Given the description of an element on the screen output the (x, y) to click on. 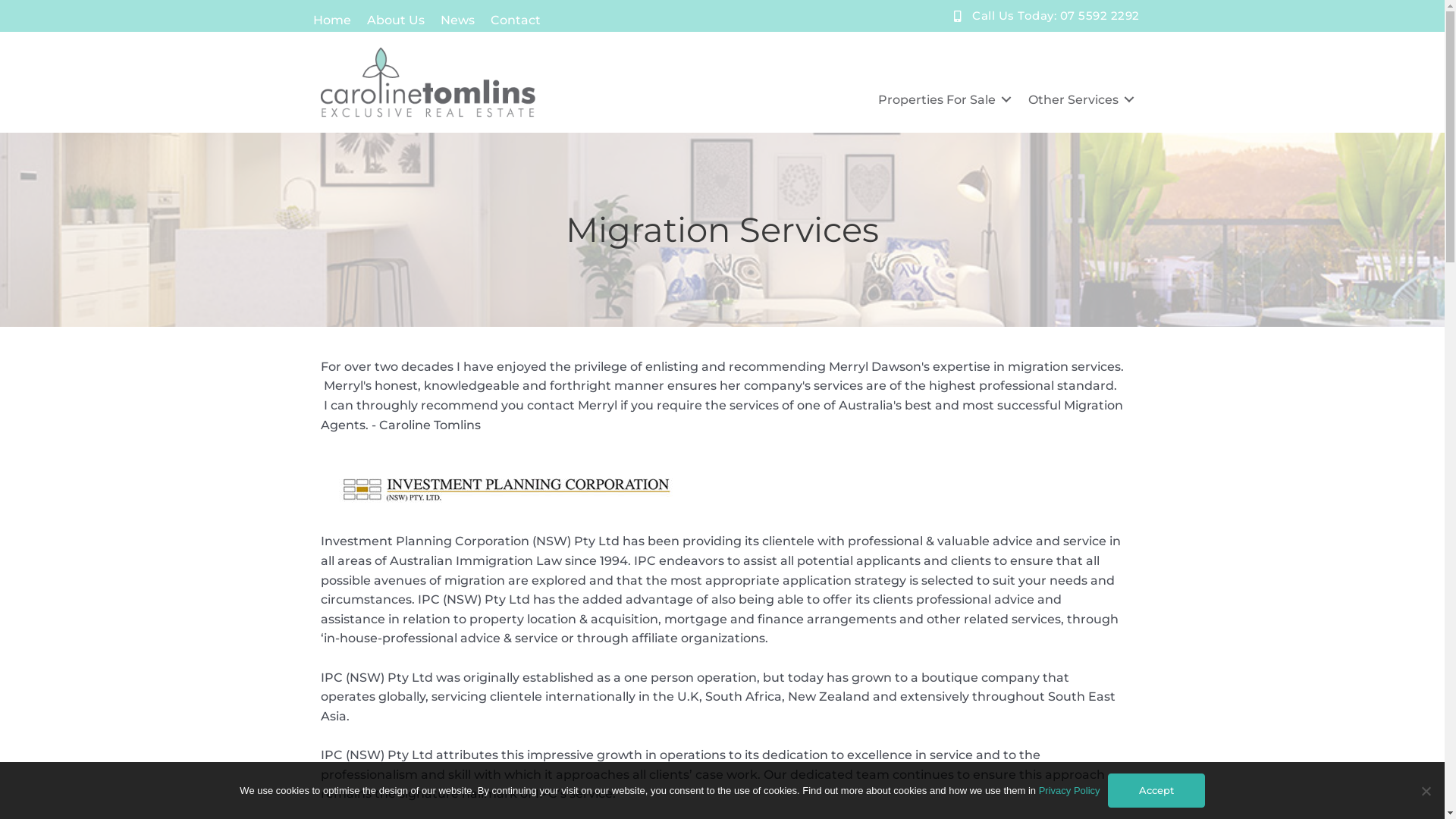
News Element type: text (456, 19)
About Us Element type: text (395, 19)
Properties For Sale Element type: text (941, 99)
Home Element type: text (330, 19)
Other Services Element type: text (1078, 99)
Contact Element type: text (514, 19)
Accept Element type: text (1155, 790)
No Element type: hover (1425, 789)
Privacy Policy Element type: text (1069, 790)
logo Element type: hover (427, 82)
